Given the description of an element on the screen output the (x, y) to click on. 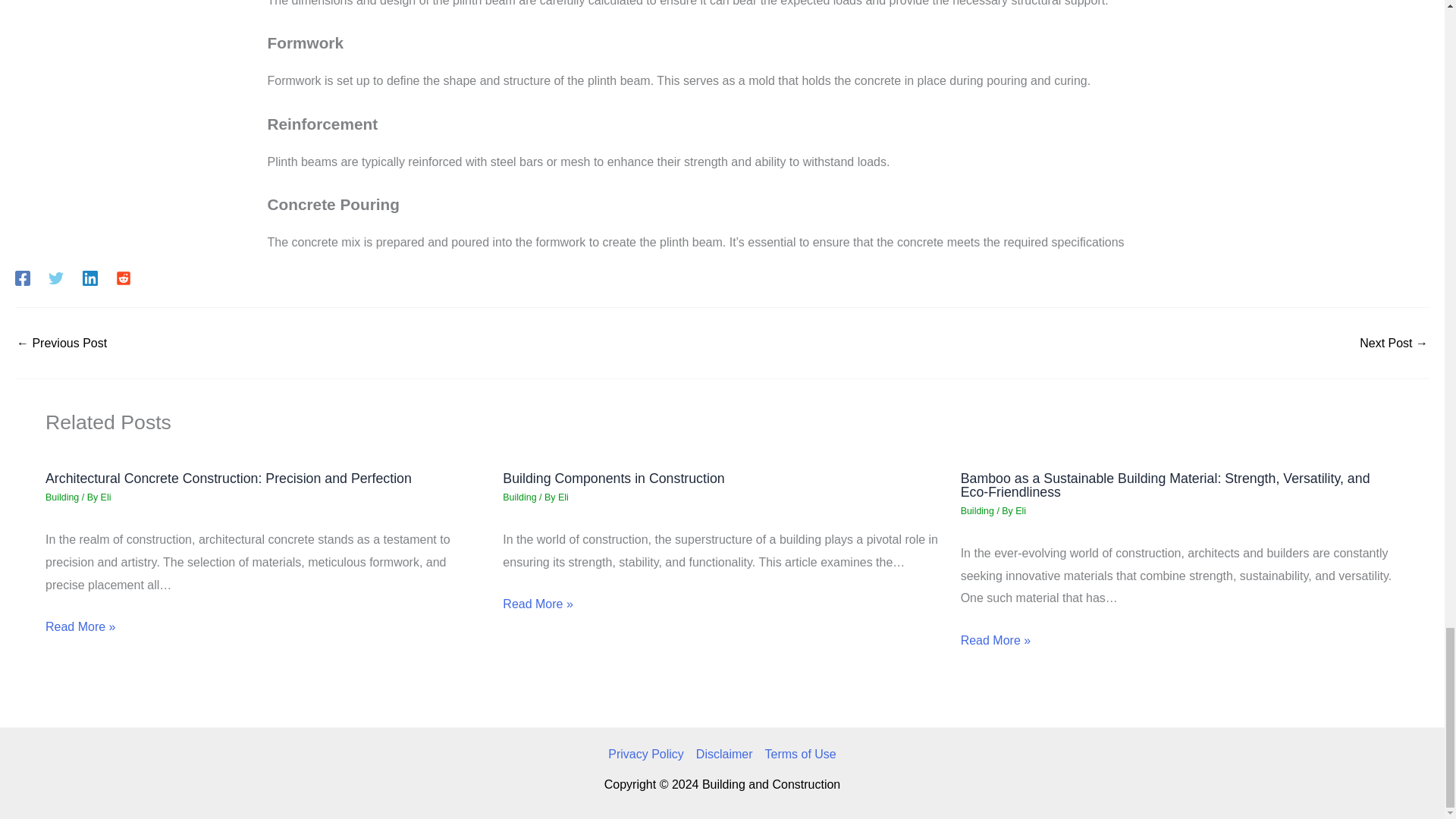
View all posts by Eli (106, 497)
View all posts by Eli (563, 497)
Pitched Roofs: A Comprehensive Educational Guide (61, 343)
View all posts by Eli (1020, 511)
